Given the description of an element on the screen output the (x, y) to click on. 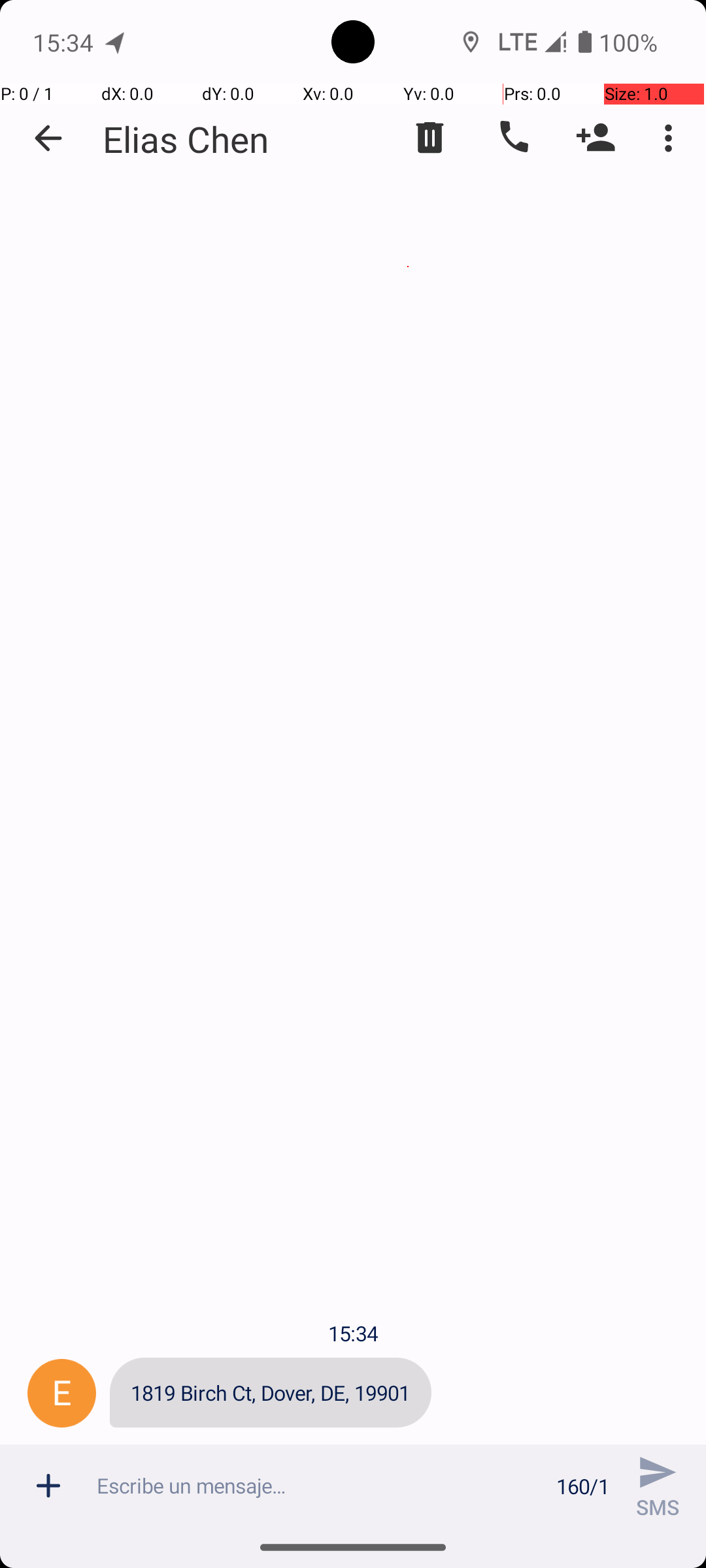
Elias Chen Element type: android.widget.TextView (185, 138)
Eliminar Element type: android.widget.Button (429, 137)
Marcar número Element type: android.widget.Button (512, 137)
Añadir persona Element type: android.widget.Button (595, 137)
Archivo adjunto Element type: android.widget.ImageView (48, 1485)
Escribe un mensaje… Element type: android.widget.EditText (318, 1485)
1819 Birch Ct, Dover, DE, 19901 Element type: android.widget.TextView (270, 1392)
